Given the description of an element on the screen output the (x, y) to click on. 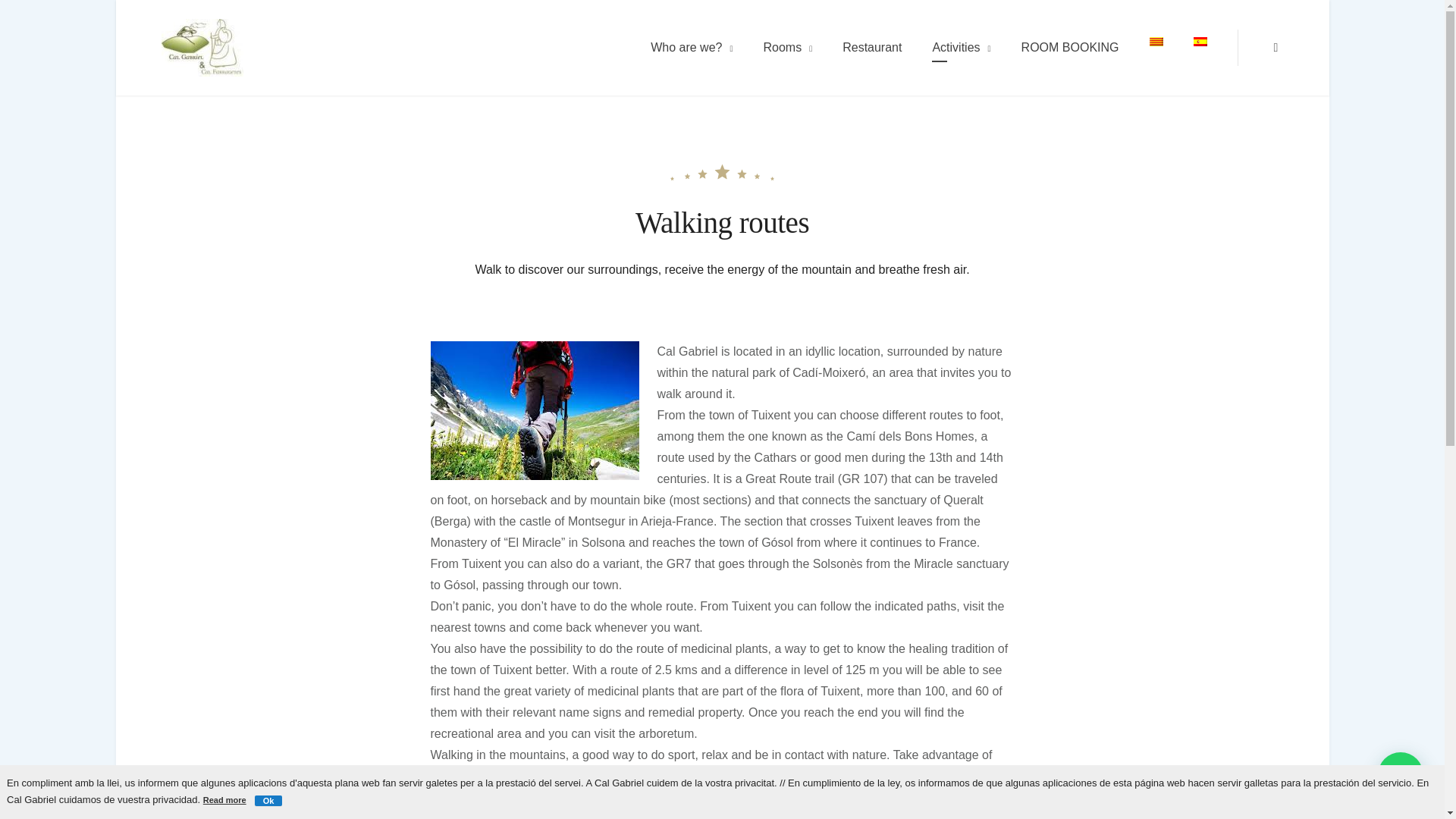
Activities (961, 47)
Who are we? (691, 47)
Cal Gabriel (293, 56)
LinkedIn (1275, 47)
Restaurant (872, 47)
ROOM BOOKING (1070, 47)
Rooms (787, 47)
